Given the description of an element on the screen output the (x, y) to click on. 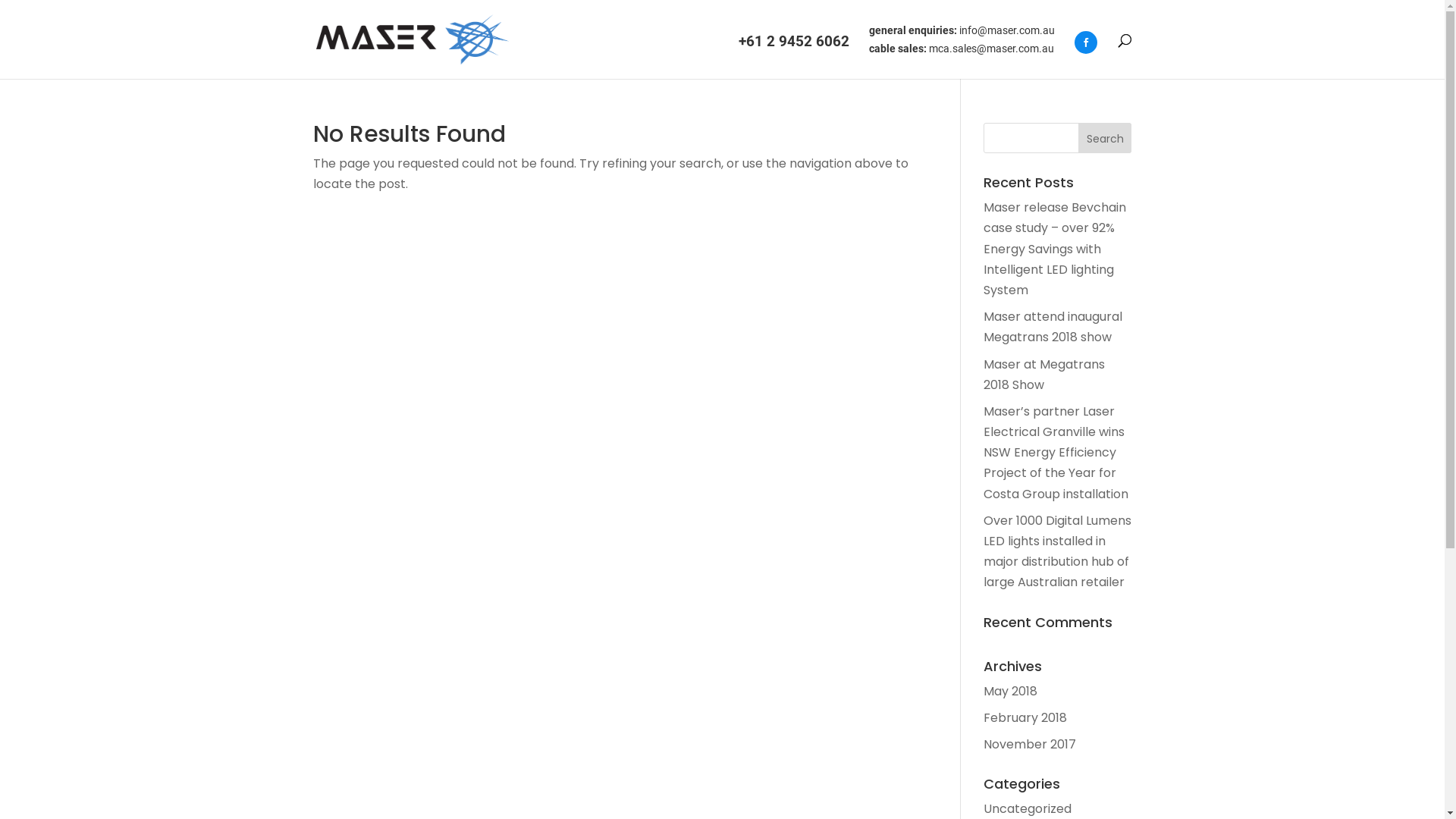
Maser at Megatrans 2018 Show Element type: text (1043, 374)
February 2018 Element type: text (1024, 717)
Search Element type: text (1105, 137)
general enquiries: info@maser.com.au Element type: text (961, 34)
cable sales: mca.sales@maser.com.au Element type: text (961, 52)
Uncategorized Element type: text (1027, 808)
November 2017 Element type: text (1029, 744)
+61 2 9452 6062 Element type: text (793, 54)
Maser attend inaugural Megatrans 2018 show Element type: text (1052, 326)
May 2018 Element type: text (1010, 690)
